Given the description of an element on the screen output the (x, y) to click on. 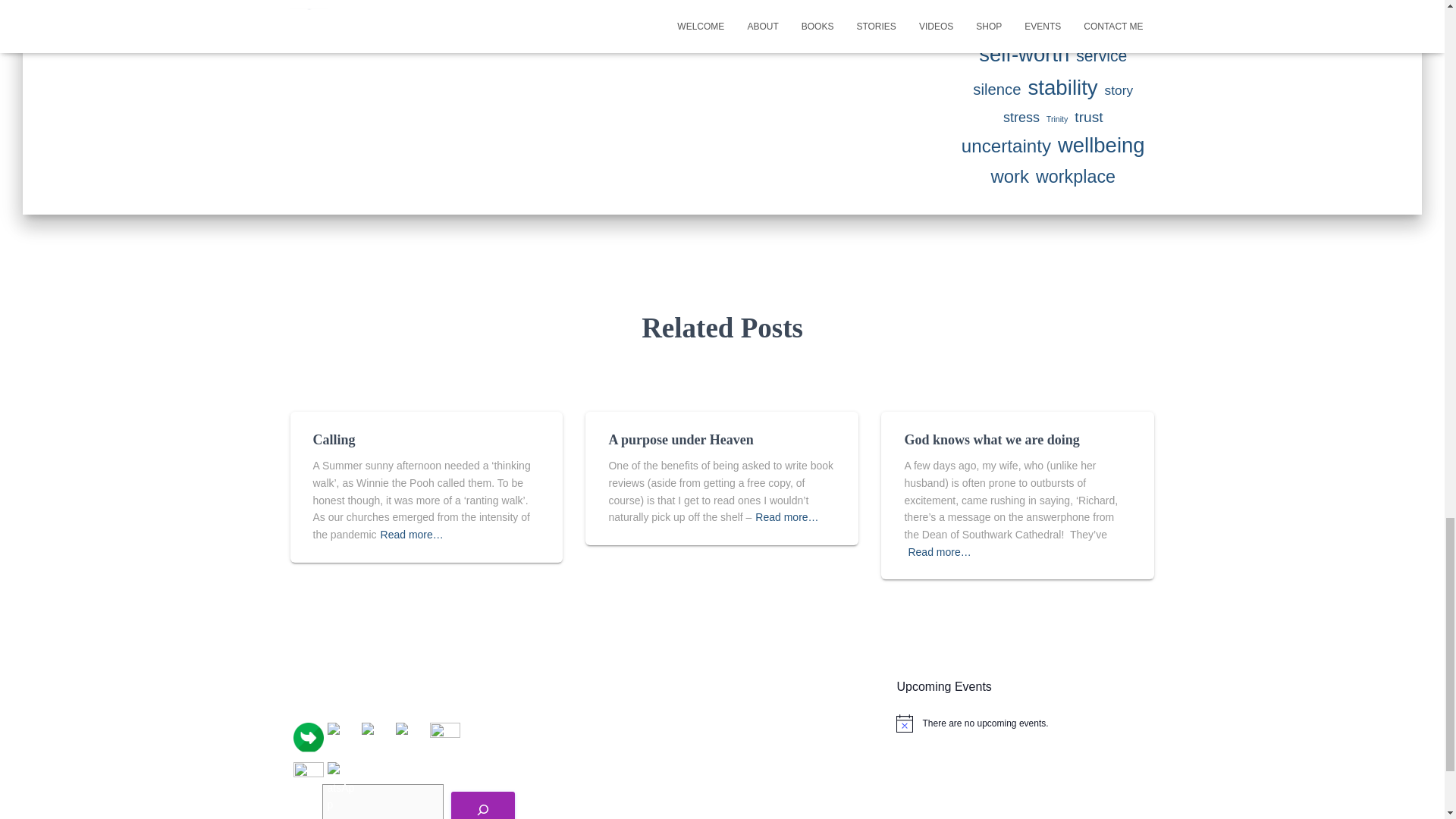
Twitter (342, 739)
Calling (334, 439)
Follow by Email (307, 737)
A purpose under Heaven (680, 439)
God knows what we are doing (991, 439)
